Given the description of an element on the screen output the (x, y) to click on. 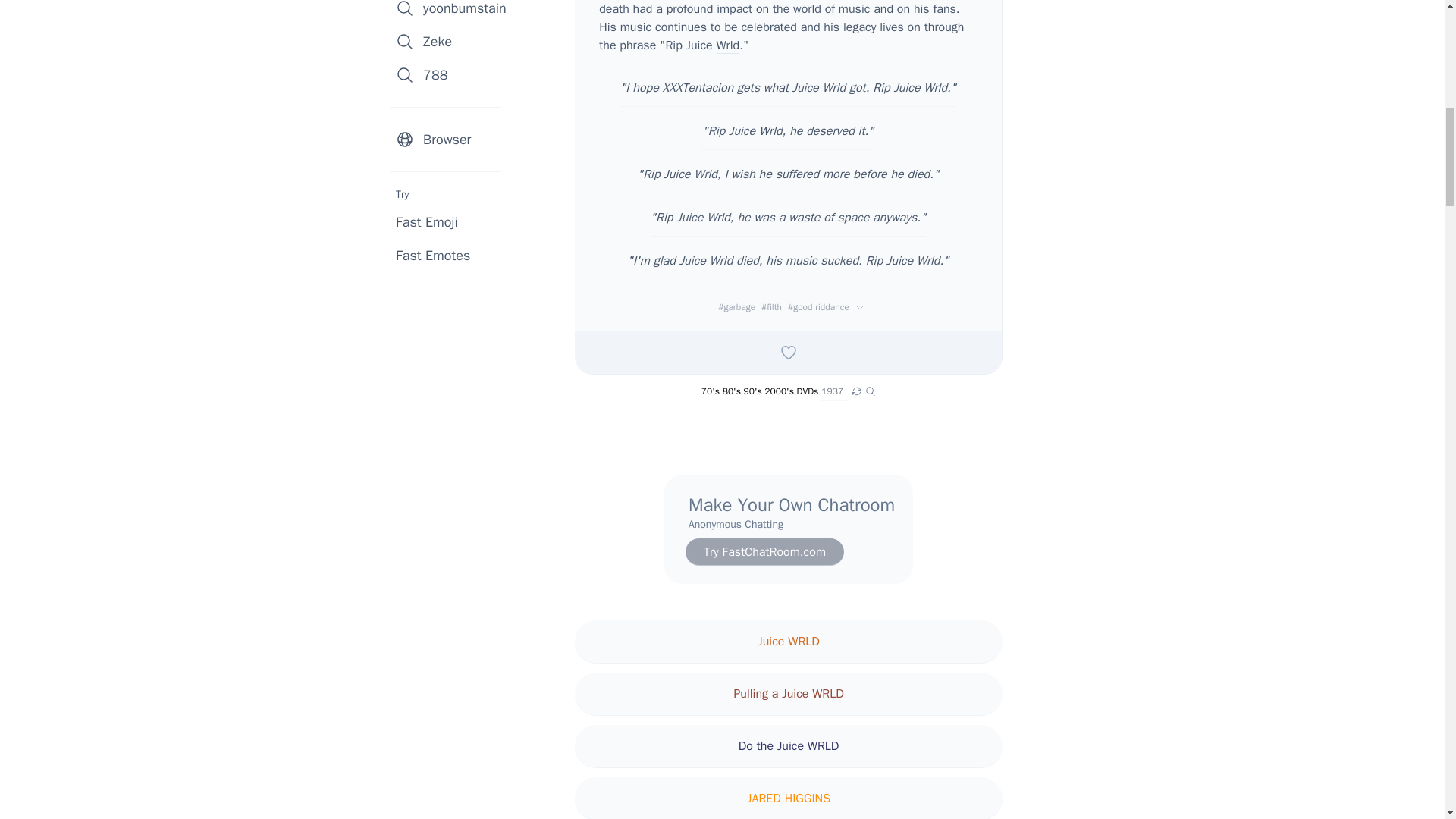
Browser (450, 139)
yoonbumstain (450, 12)
yoonbumstain (450, 12)
Fast Emoji (427, 221)
788 (450, 74)
788 (450, 74)
Fast Emotes (433, 255)
Zeke (450, 41)
Zeke (450, 41)
